Given the description of an element on the screen output the (x, y) to click on. 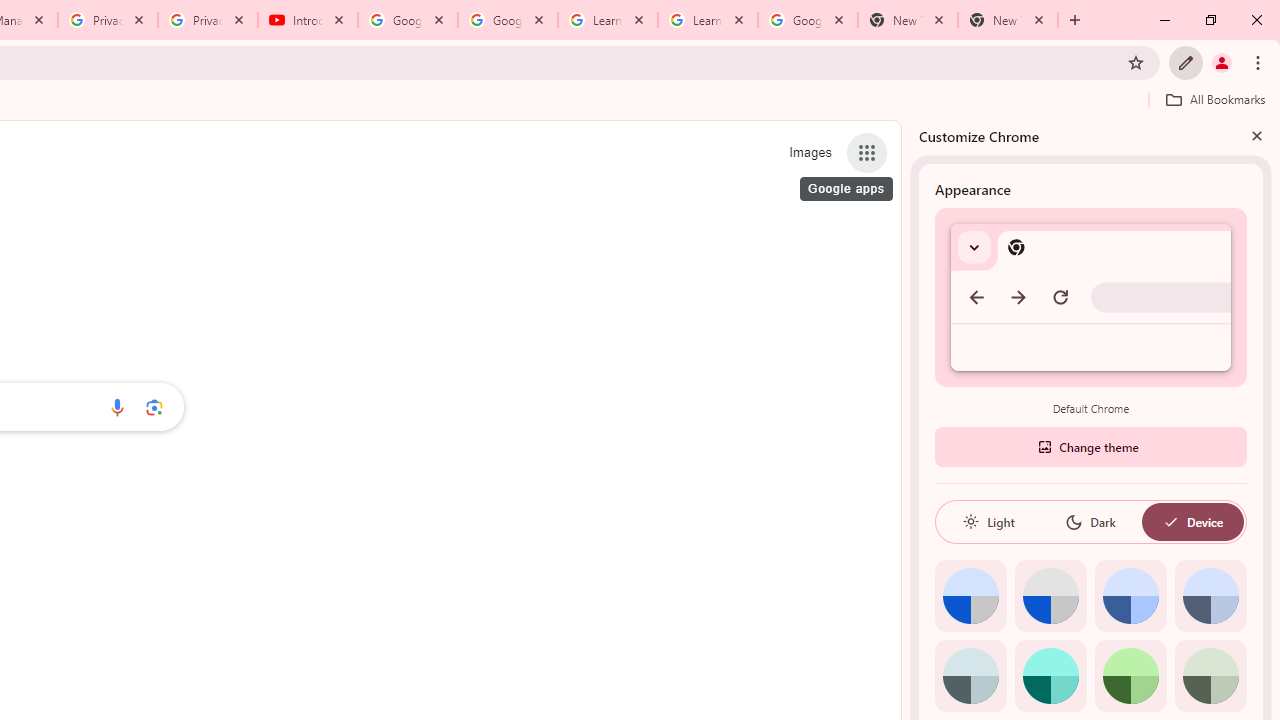
Green (1130, 676)
Dark (1090, 521)
Customize Chrome (1185, 62)
New Tab (907, 20)
Grey default color (1050, 596)
Default color (970, 596)
Default Chrome (1091, 296)
